Given the description of an element on the screen output the (x, y) to click on. 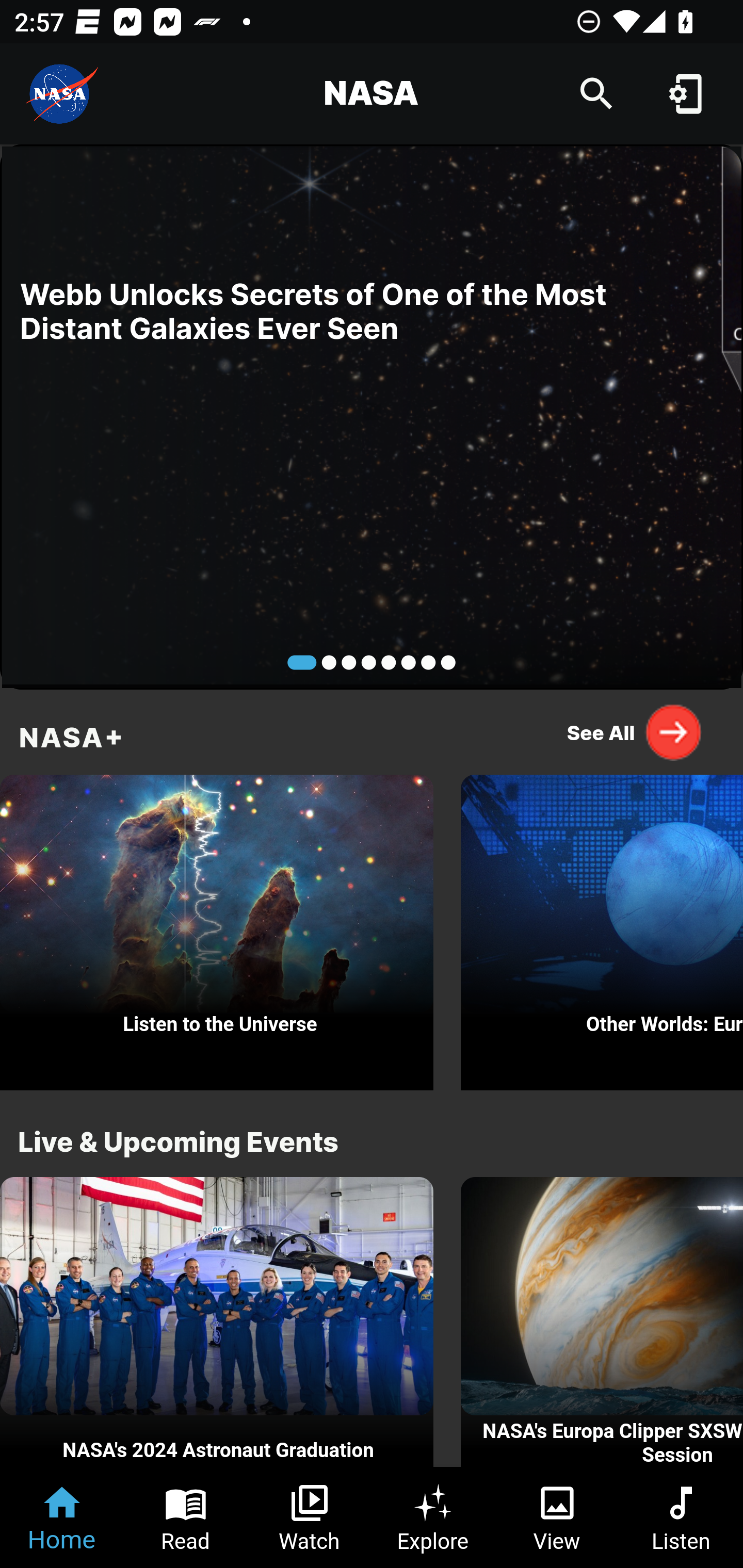
See All (634, 732)
Listen to the Universe (216, 927)
Other Worlds: Europa (601, 927)
NASA's 2024 Astronaut Graduation (216, 1322)
NASA's Europa Clipper SXSW 2024 Opening Session (601, 1322)
Home
Tab 1 of 6 (62, 1517)
Read
Tab 2 of 6 (185, 1517)
Watch
Tab 3 of 6 (309, 1517)
Explore
Tab 4 of 6 (433, 1517)
View
Tab 5 of 6 (556, 1517)
Listen
Tab 6 of 6 (680, 1517)
